Given the description of an element on the screen output the (x, y) to click on. 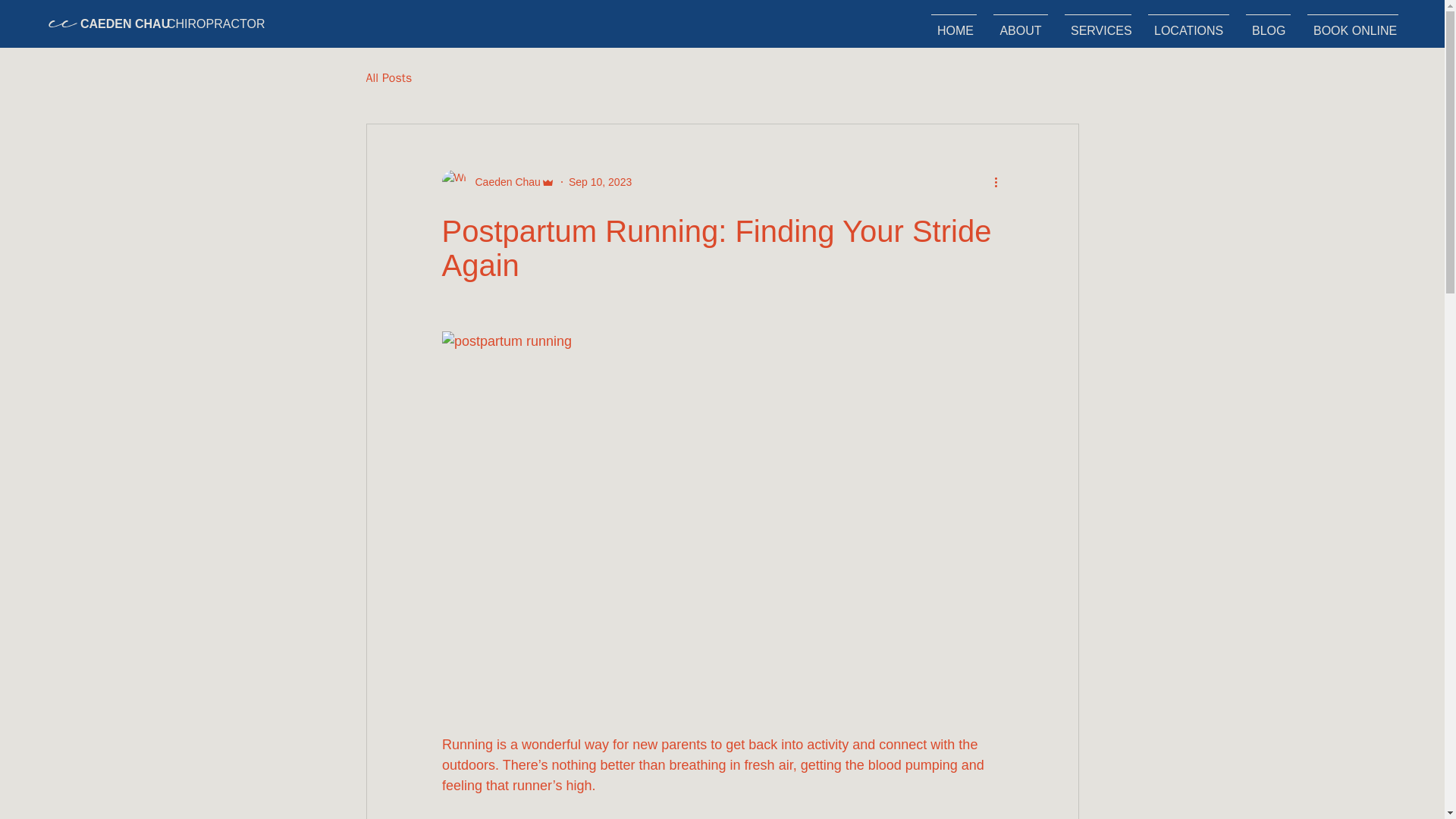
Caeden Chau (502, 182)
BLOG (1267, 23)
CHIROPRACTOR (215, 24)
ABOUT (1021, 23)
CAEDEN CHAU (125, 24)
Sep 10, 2023 (600, 182)
All Posts (388, 77)
Caeden Chau (497, 181)
SERVICES (1098, 23)
BOOK ONLINE (1352, 23)
